Given the description of an element on the screen output the (x, y) to click on. 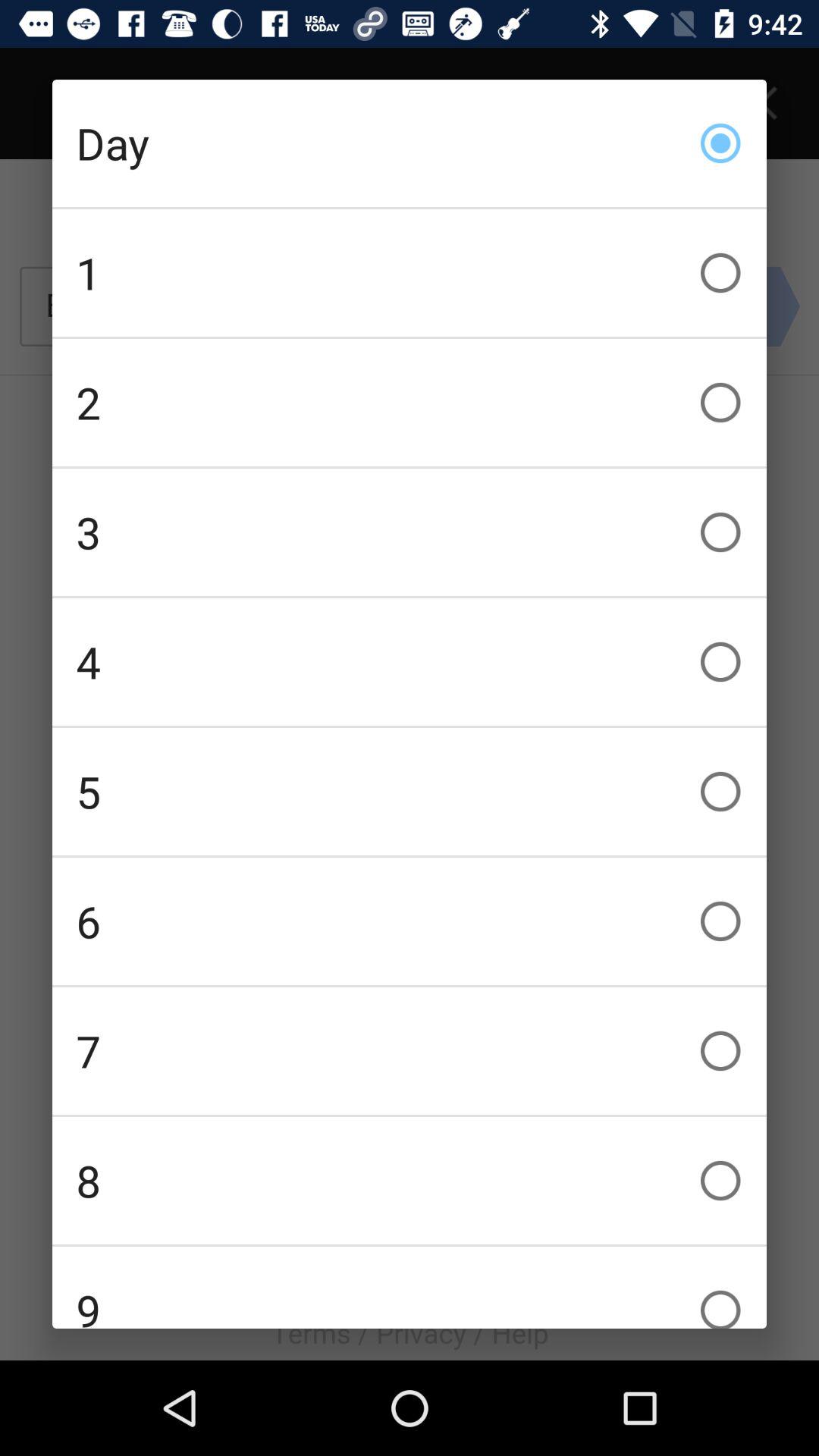
swipe until the 6 checkbox (409, 921)
